Given the description of an element on the screen output the (x, y) to click on. 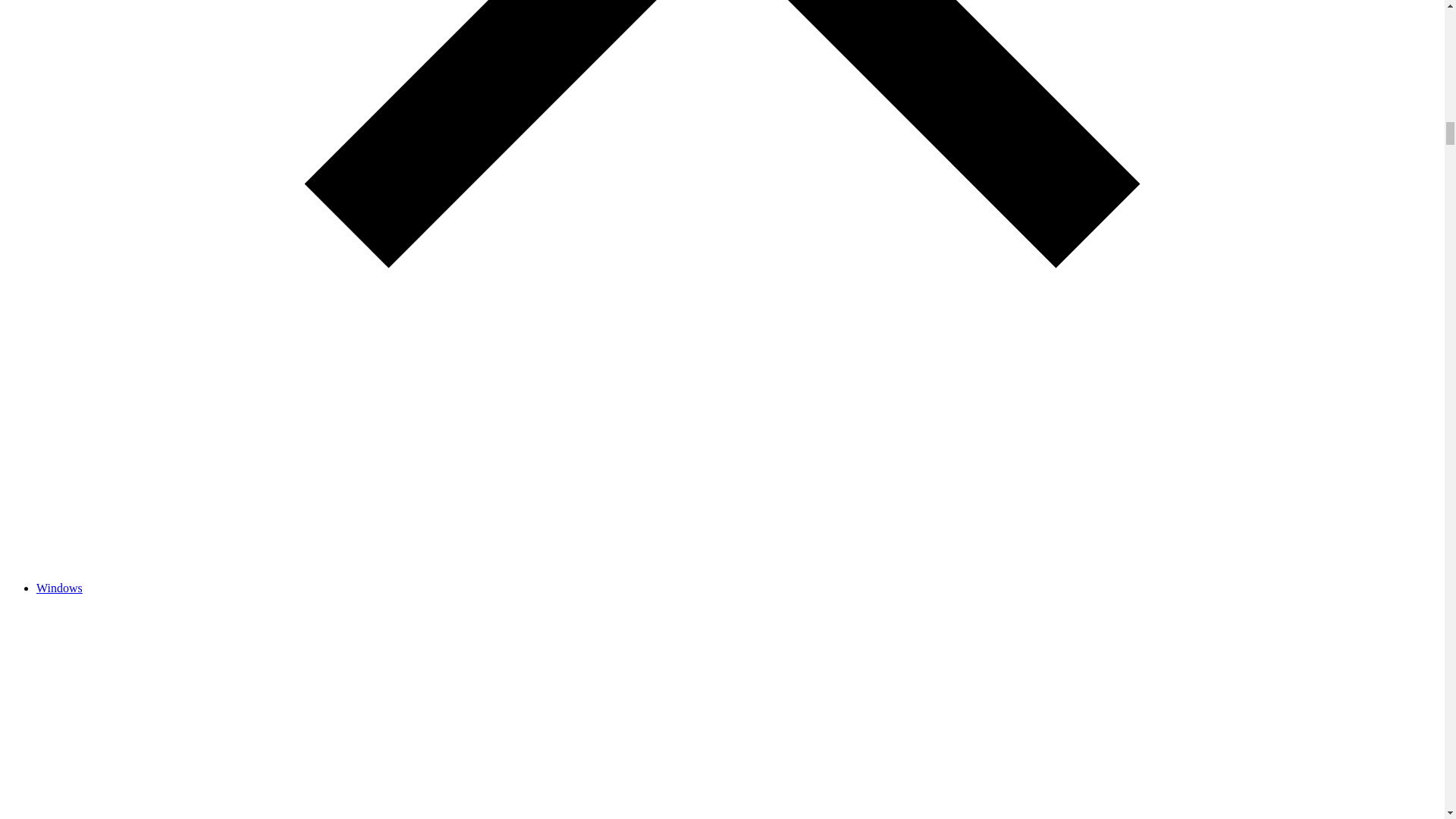
Windows (59, 587)
